Given the description of an element on the screen output the (x, y) to click on. 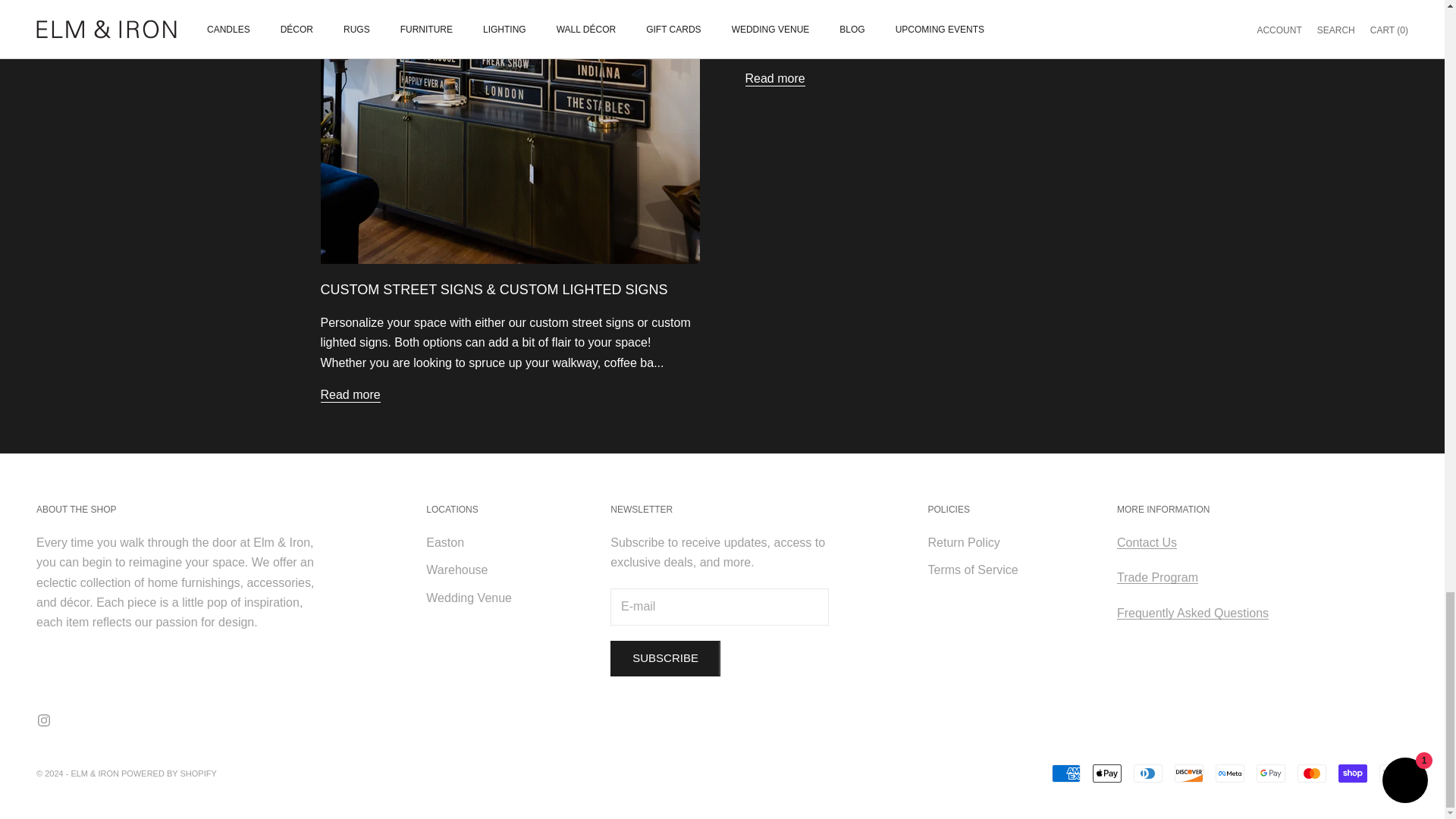
Contact Us (1146, 542)
FAQs (1192, 612)
